Given the description of an element on the screen output the (x, y) to click on. 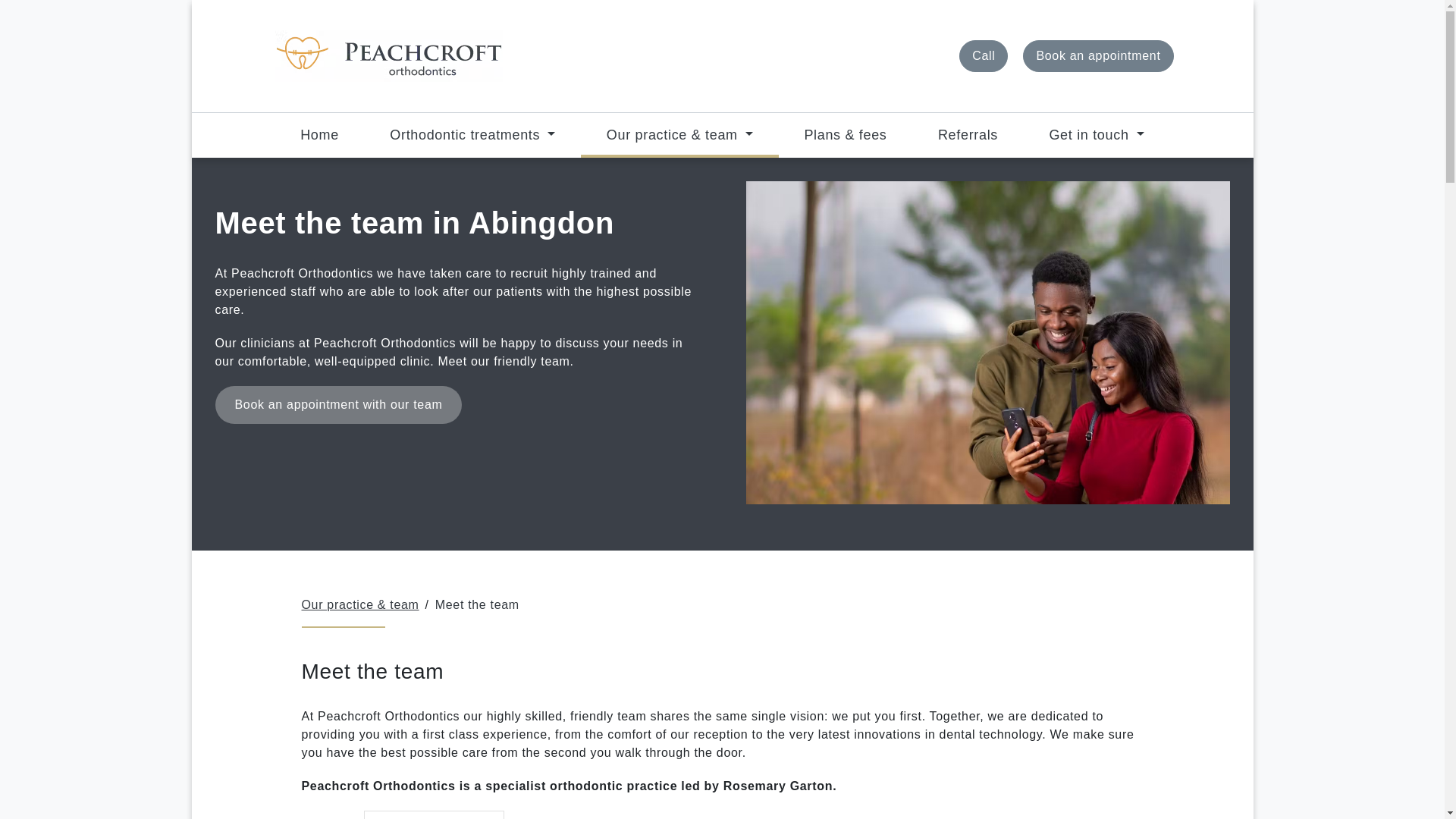
Call (983, 56)
Referrals (967, 133)
Book an appointment with our team (339, 404)
Home (319, 133)
Orthodontic treatments (472, 133)
Meet the team (477, 605)
